Given the description of an element on the screen output the (x, y) to click on. 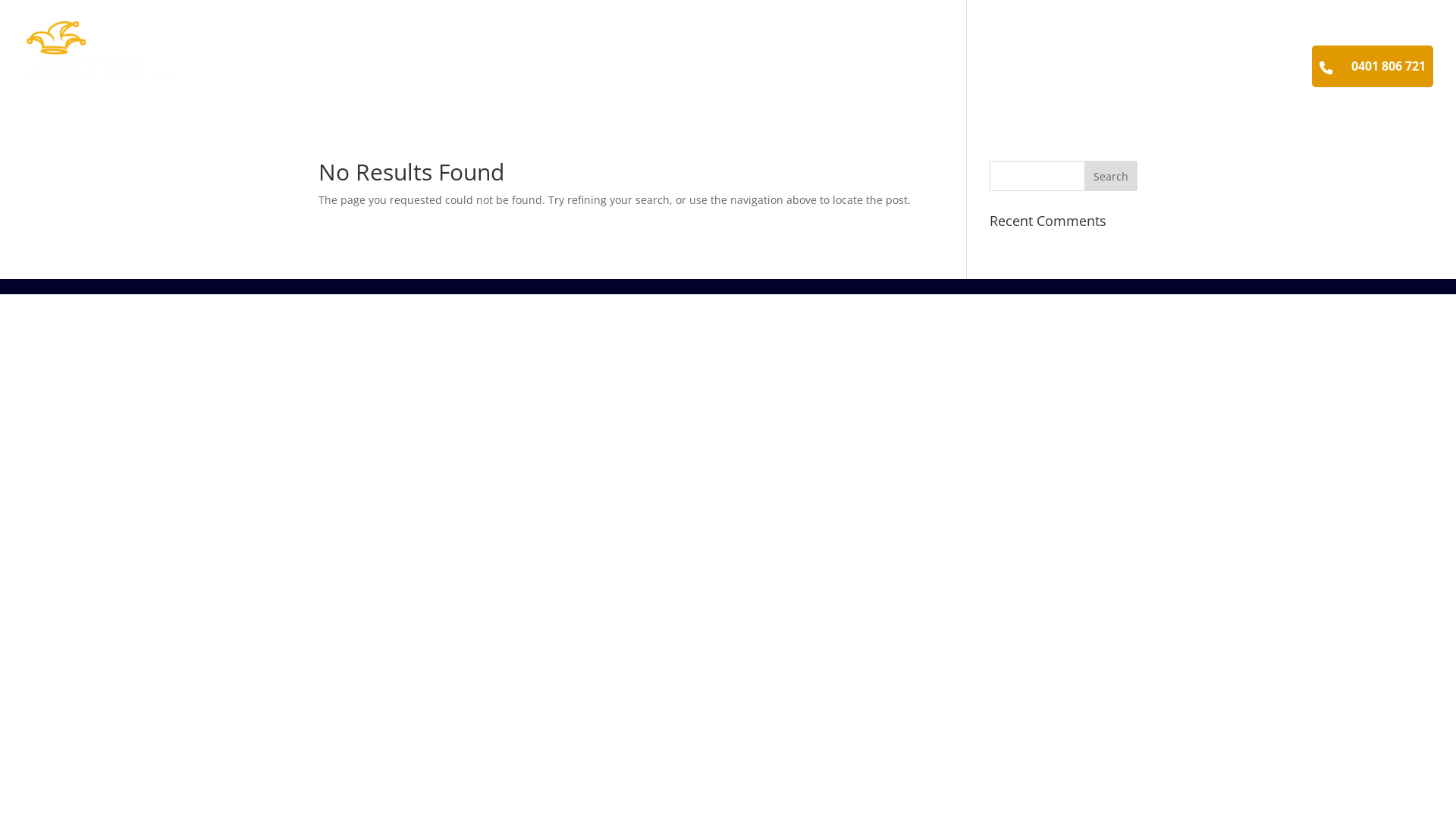
WEB DEVELOPMENT Element type: text (896, 88)
HOME Element type: text (755, 88)
ADWORDS Element type: text (1006, 88)
CONTACT Element type: text (1256, 88)
0401 806 721 Element type: text (1388, 66)
SEO Element type: text (805, 88)
Search Element type: text (1110, 175)
FACEBOOK MARKETING Element type: text (1129, 88)
